Given the description of an element on the screen output the (x, y) to click on. 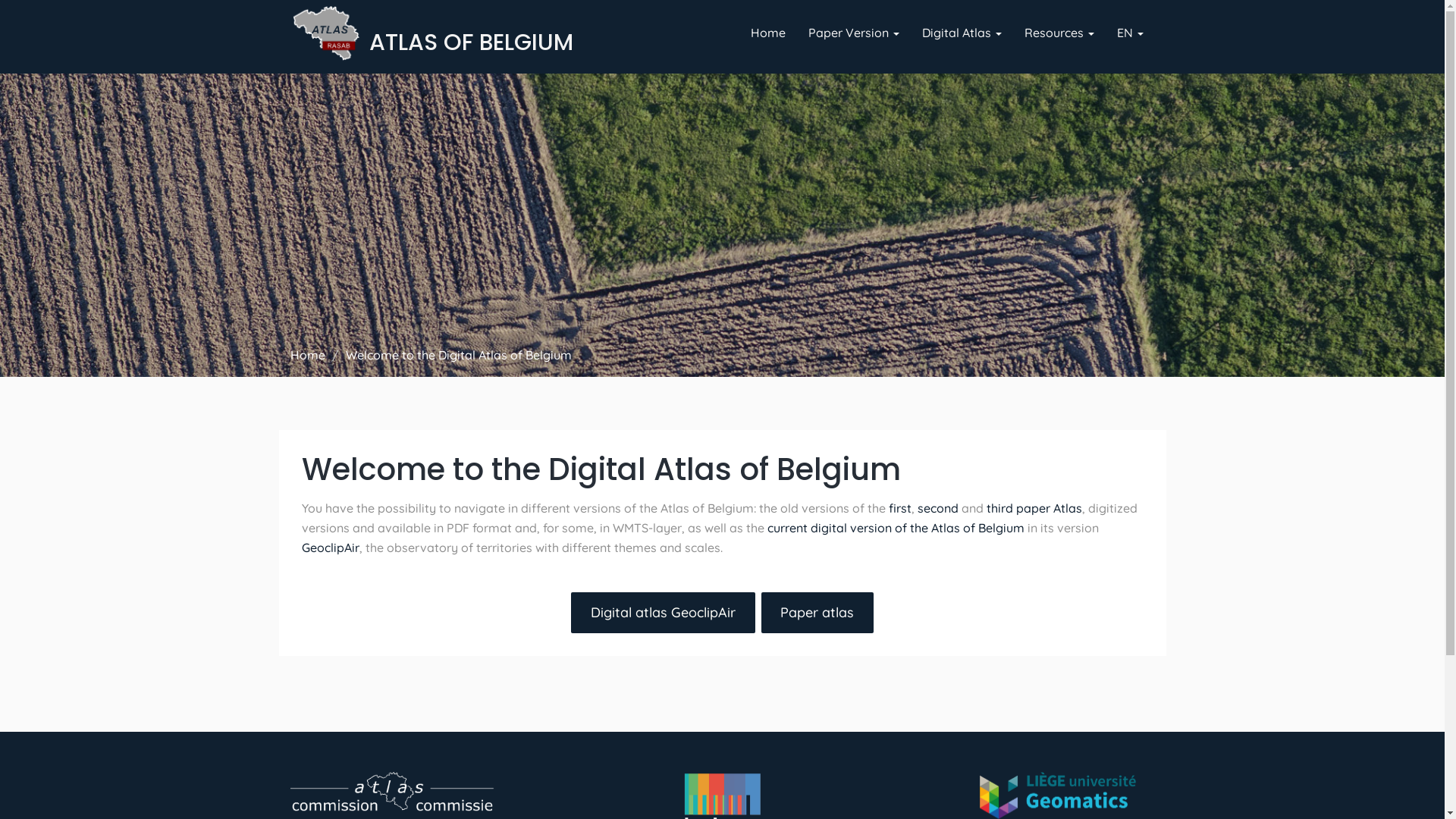
second Element type: text (937, 507)
Digital atlas GeoclipAir Element type: text (663, 612)
Paper Version Element type: text (853, 32)
current digital version of the Atlas of Belgium Element type: text (895, 527)
GeoclipAir Element type: text (330, 547)
third paper Atlas Element type: text (1033, 507)
Home Element type: text (767, 32)
Digital Atlas Element type: text (961, 32)
Paper atlas Element type: text (817, 612)
EN Element type: text (1129, 32)
Home Element type: text (306, 354)
Resources Element type: text (1059, 32)
first Element type: text (899, 507)
ATLAS OF BELGIUM Element type: text (471, 40)
